Given the description of an element on the screen output the (x, y) to click on. 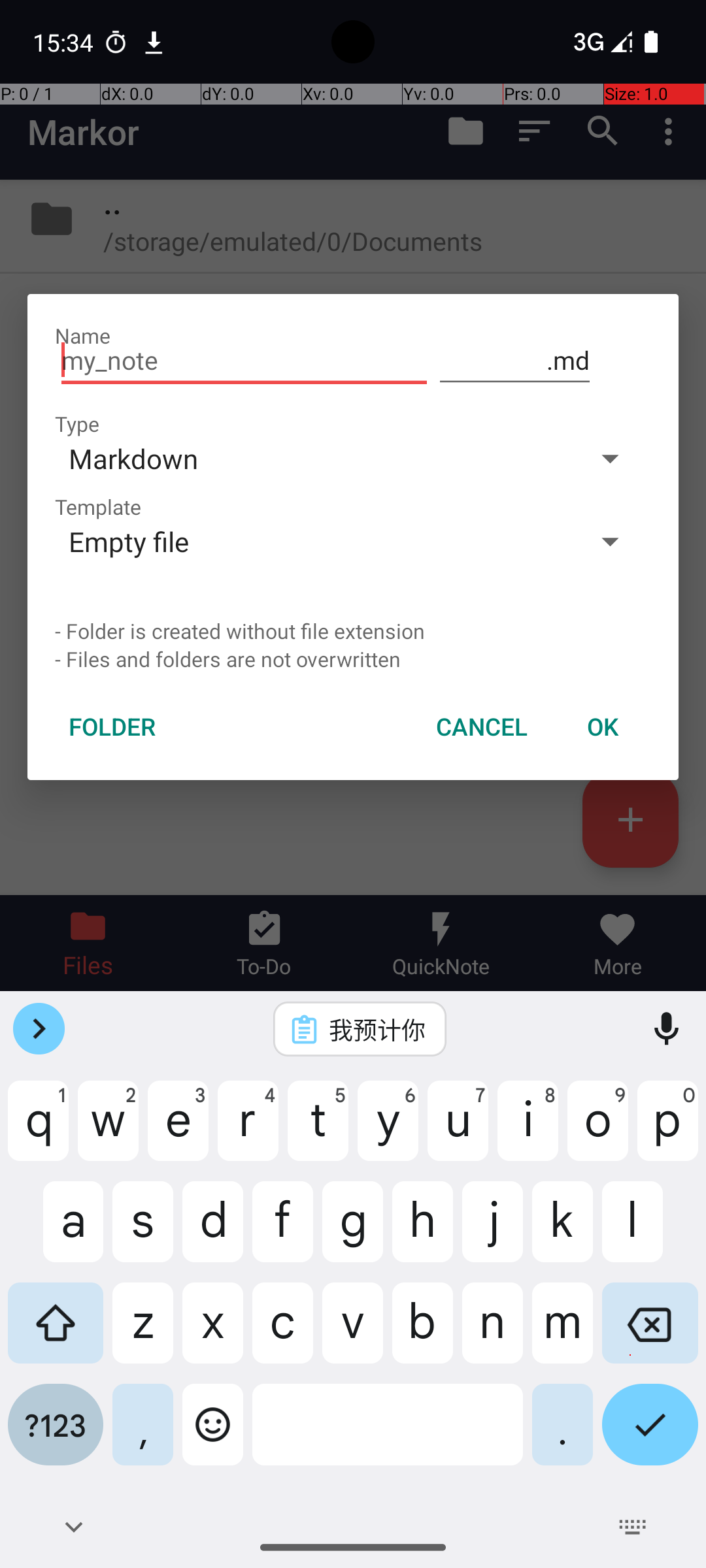
我预计你 Element type: android.widget.TextView (376, 1028)
